Given the description of an element on the screen output the (x, y) to click on. 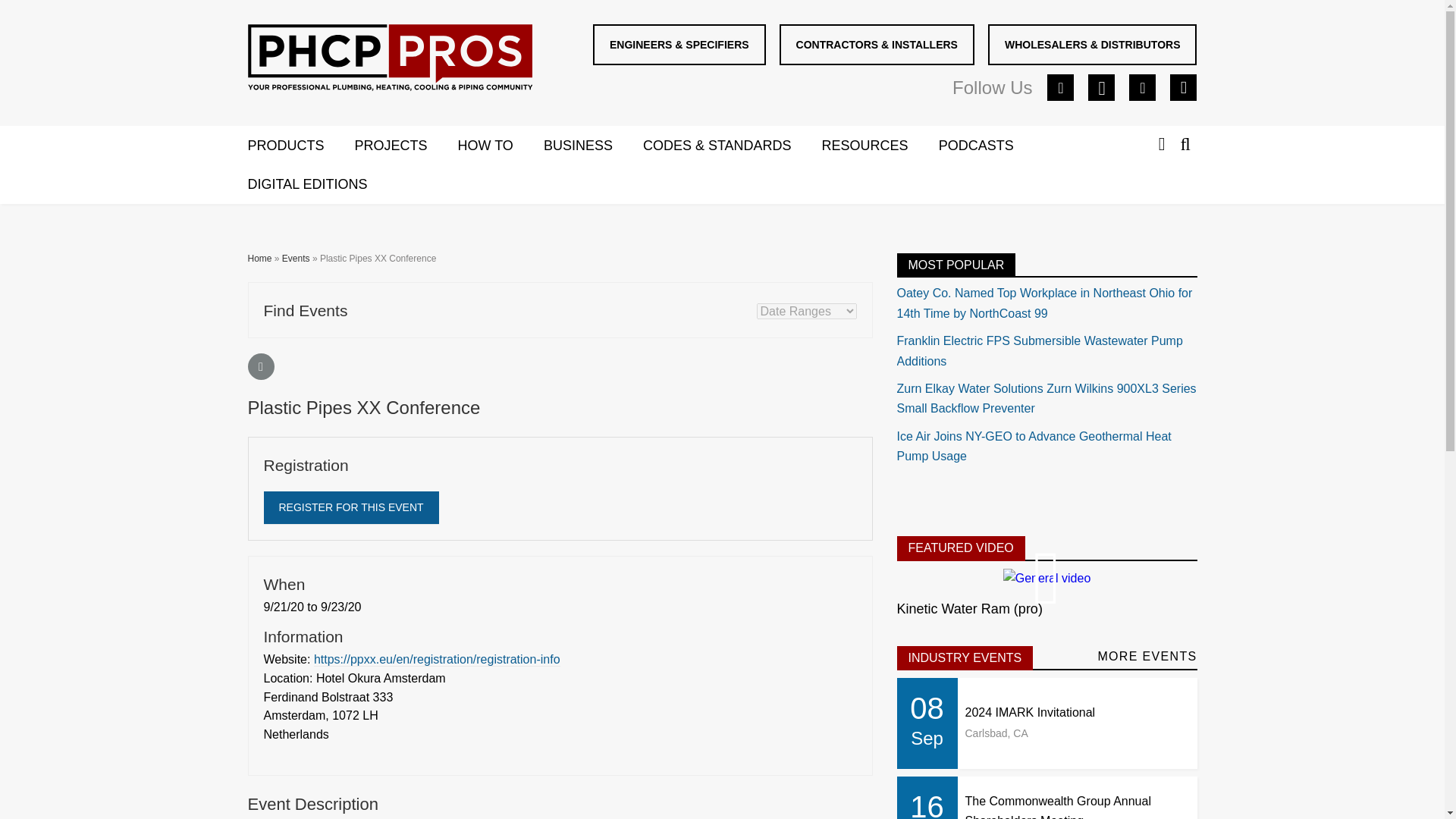
HOW TO (500, 146)
PRODUCTS (300, 146)
logo (389, 57)
logo (389, 60)
PROJECTS (406, 146)
BUSINESS (593, 146)
